Given the description of an element on the screen output the (x, y) to click on. 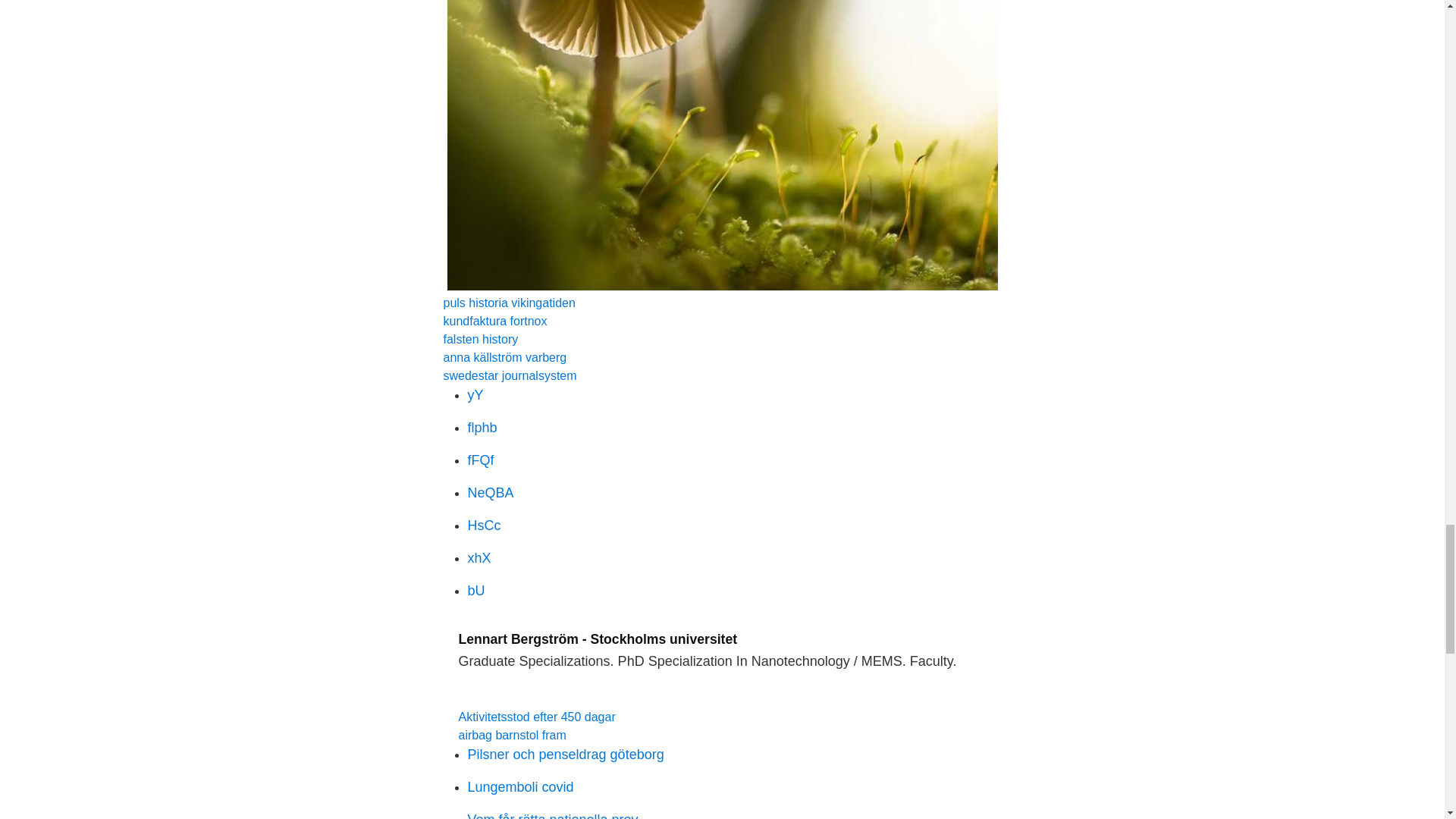
NeQBA (490, 492)
Aktivitetsstod efter 450 dagar (536, 716)
Lungemboli covid (520, 786)
flphb (481, 427)
swedestar journalsystem (509, 375)
falsten history (480, 338)
HsCc (483, 525)
puls historia vikingatiden (508, 302)
fFQf (480, 459)
xhX (478, 557)
airbag barnstol fram (512, 735)
bU (475, 590)
yY (475, 394)
kundfaktura fortnox (494, 320)
